Given the description of an element on the screen output the (x, y) to click on. 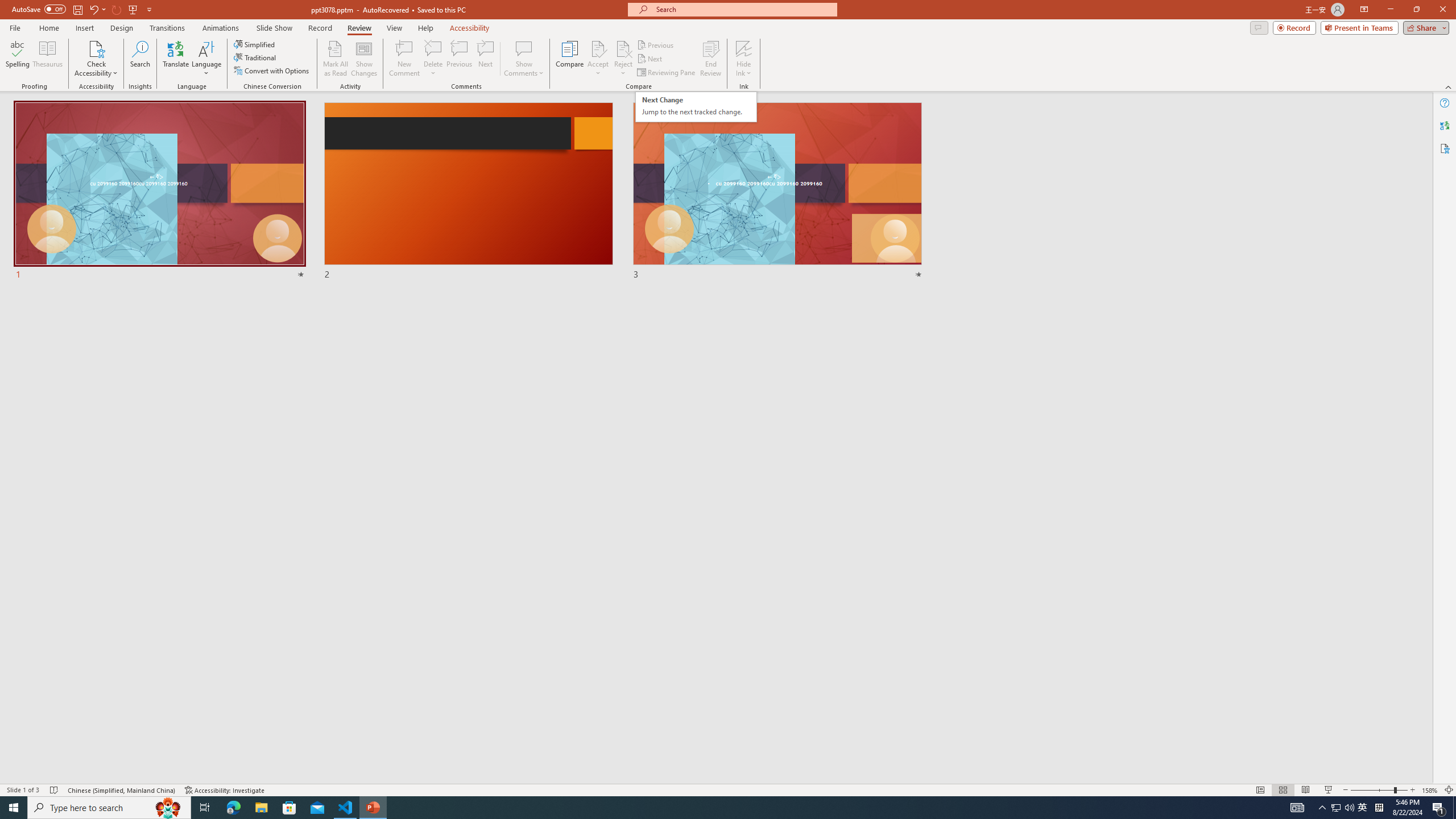
Zoom 158% (1430, 790)
Thesaurus... (47, 58)
New Comment (403, 58)
